Given the description of an element on the screen output the (x, y) to click on. 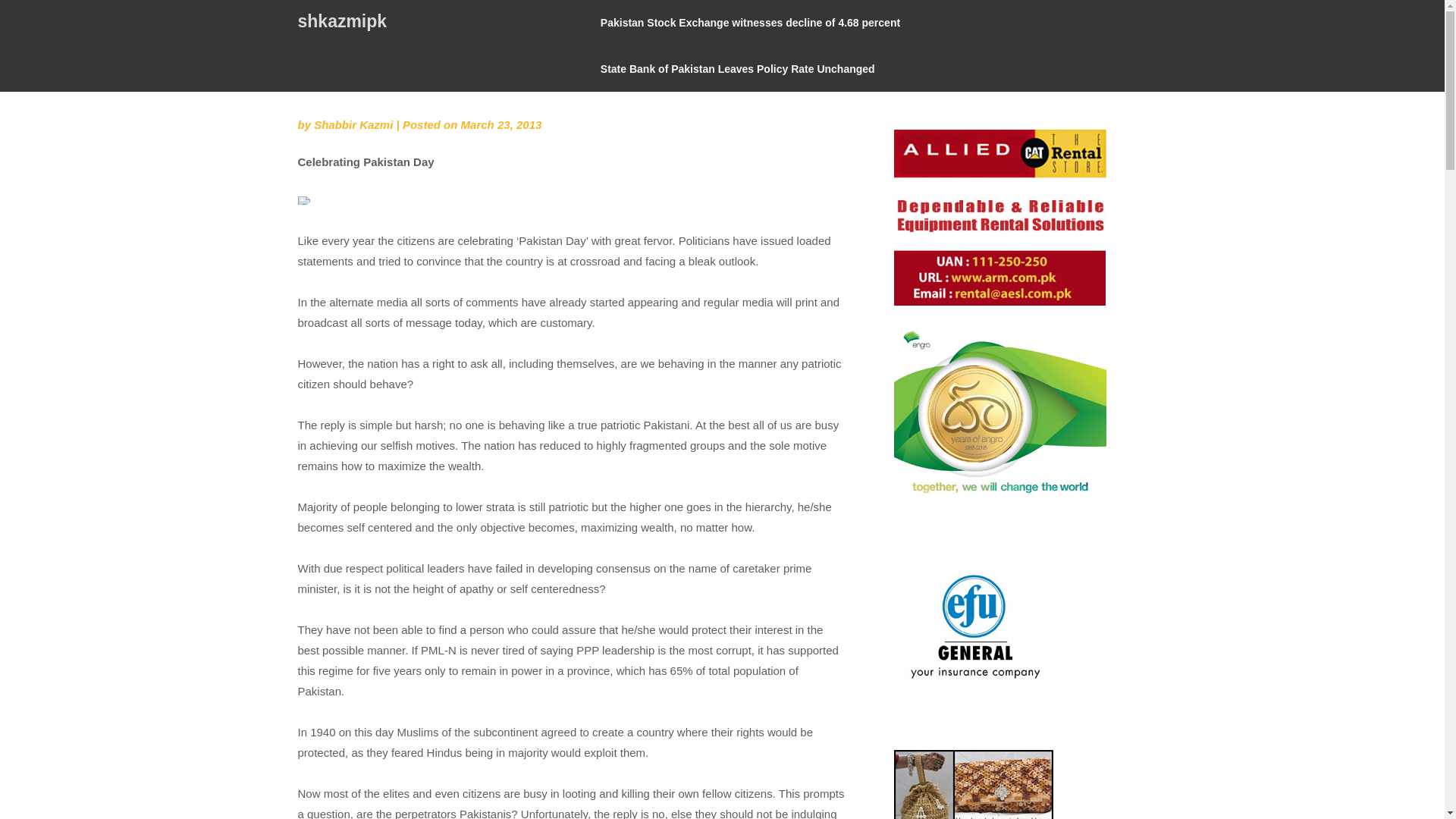
shkazmipk (342, 21)
March 23, 2013 (501, 124)
Pakistan Stock Exchange witnesses decline of 4.68 percent (750, 22)
State Bank of Pakistan Leaves Policy Rate Unchanged (737, 67)
Shabbir Kazmi (353, 124)
